Given the description of an element on the screen output the (x, y) to click on. 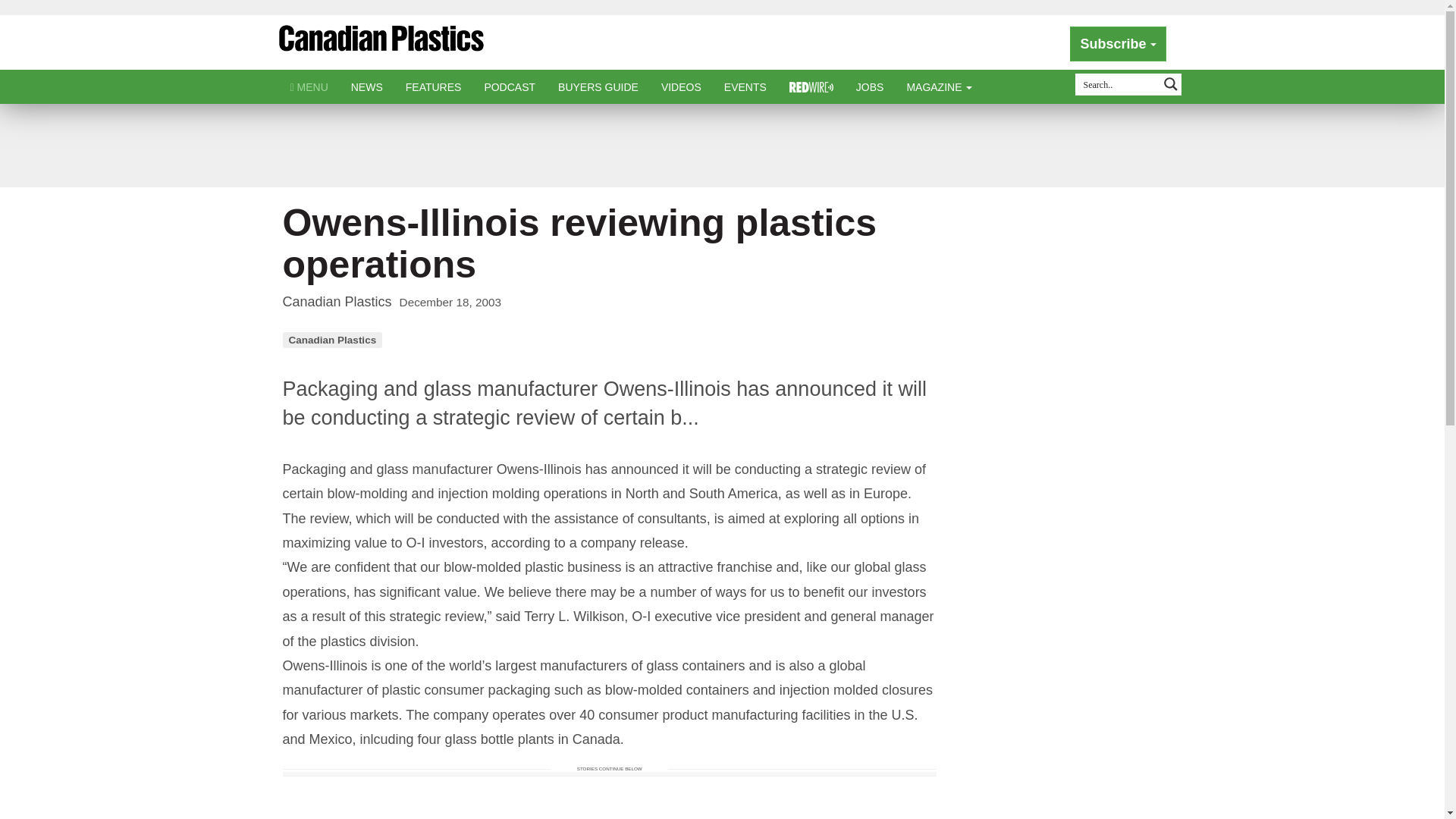
3rd party ad content (721, 145)
NEWS (366, 86)
BUYERS GUIDE (598, 86)
MAGAZINE (939, 86)
PODCAST (509, 86)
VIDEOS (681, 86)
Subscribe (1118, 43)
EVENTS (745, 86)
MENU (309, 86)
JOBS (869, 86)
